Given the description of an element on the screen output the (x, y) to click on. 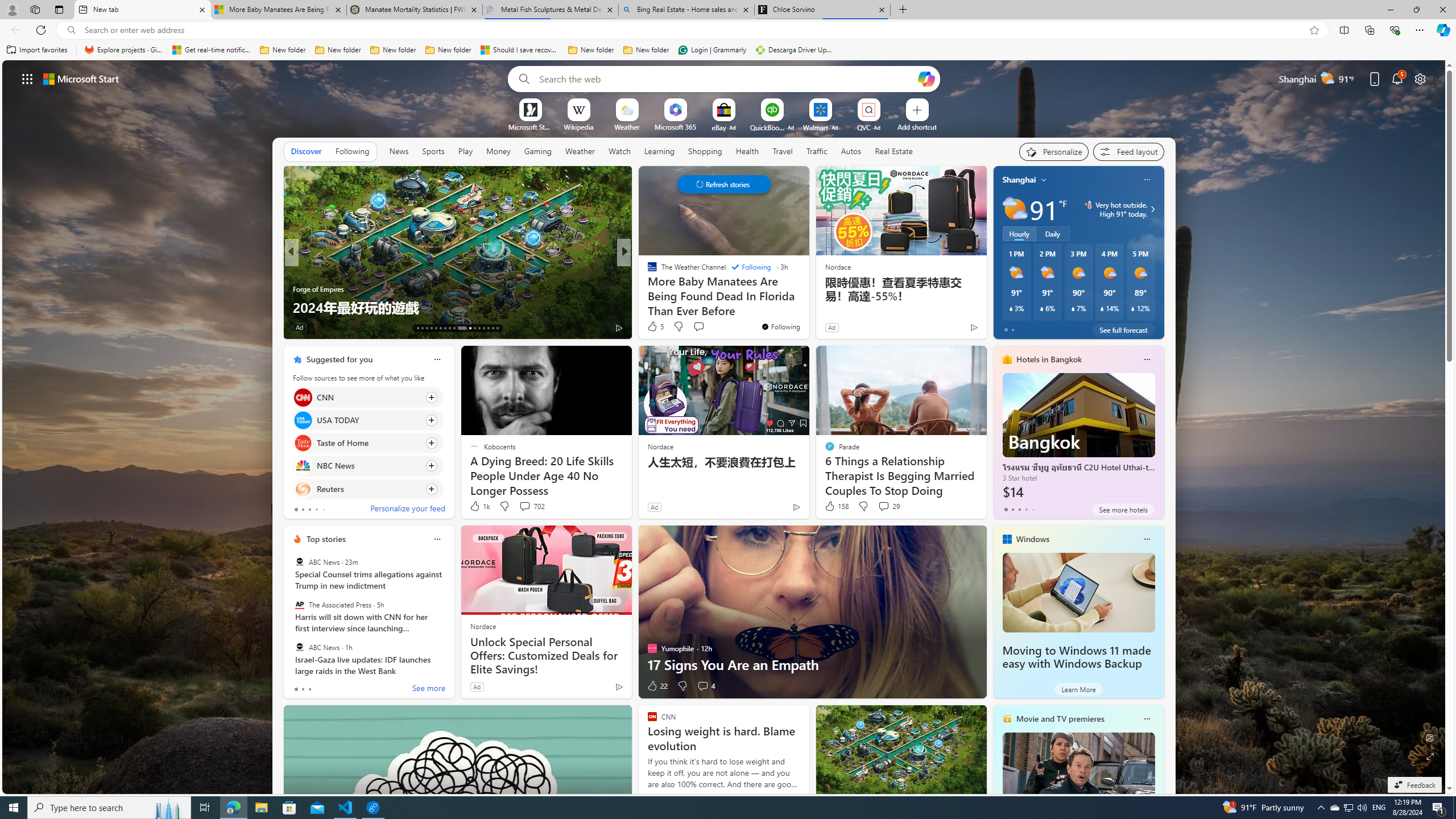
AutomationID: tab-40 (488, 328)
Search icon (70, 29)
The Associated Press (299, 604)
Traffic (816, 151)
Feed settings (1128, 151)
View comments 19 Comment (707, 327)
Edit Background (1430, 737)
Ad Choice (619, 686)
View comments 6 Comment (703, 327)
Class: icon-img (1146, 718)
Open Copilot (926, 78)
AutomationID: tab-21 (454, 328)
See more hotels (1123, 509)
